Given the description of an element on the screen output the (x, y) to click on. 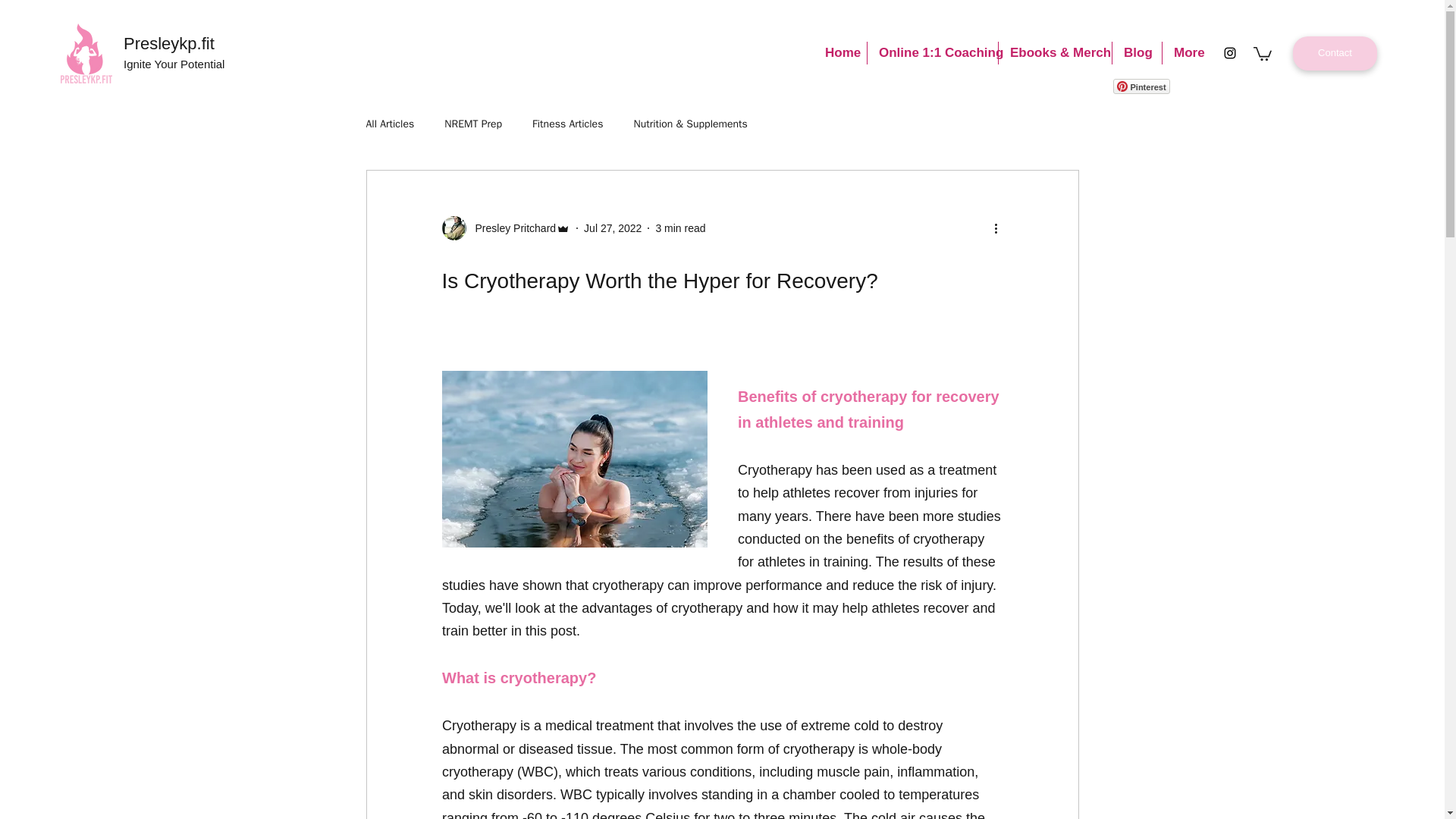
All Articles (389, 124)
Online 1:1 Coaching (932, 52)
Pinterest (1141, 86)
Contact (1334, 53)
Presleykp.fit (168, 43)
Jul 27, 2022 (612, 227)
Home (839, 52)
Presley Pritchard (505, 228)
Presley Pritchard (510, 228)
Fitness Articles (567, 124)
